Given the description of an element on the screen output the (x, y) to click on. 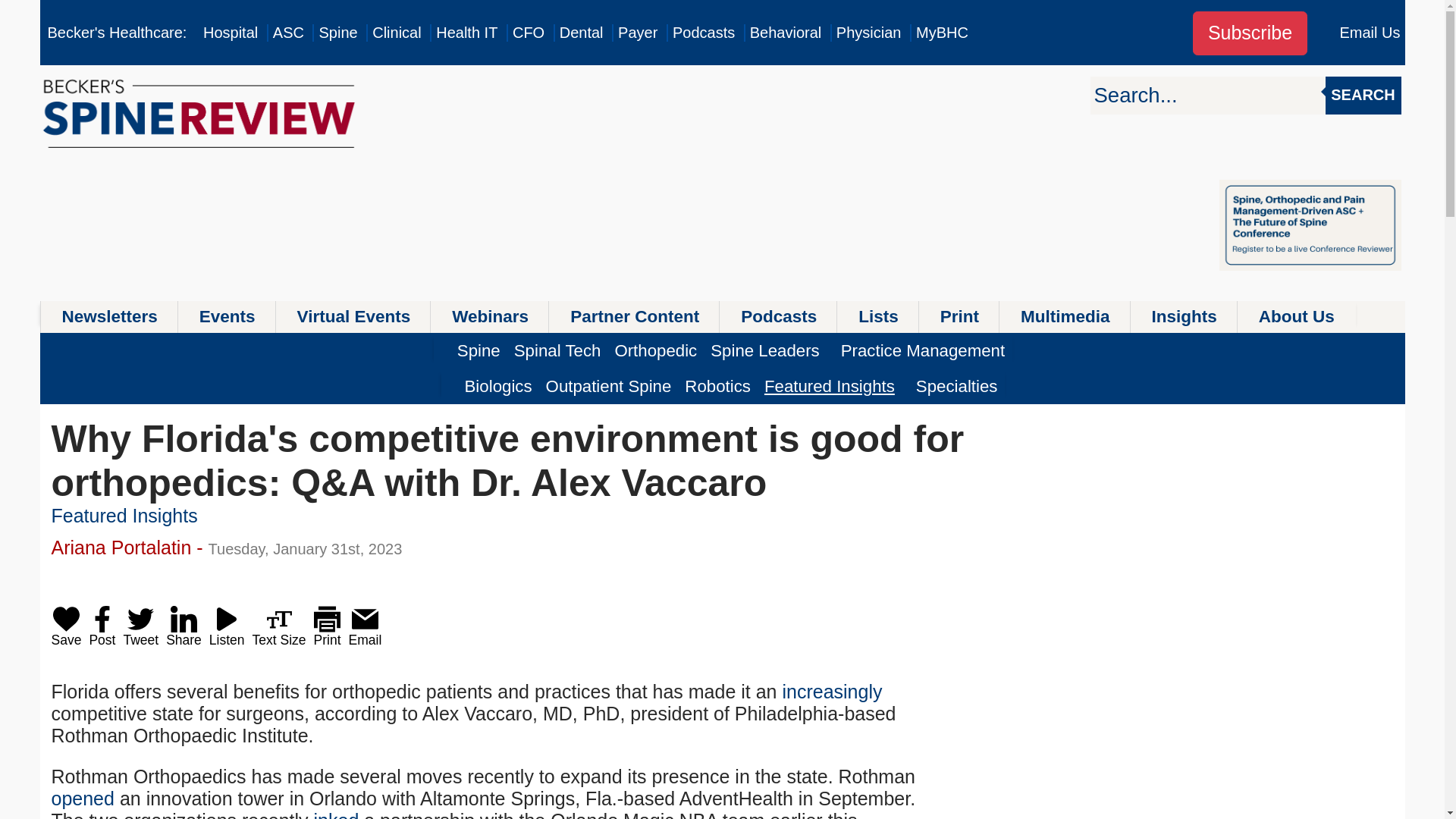
Hospital (230, 32)
Spine (337, 32)
Clinical (396, 32)
Becker's Clinical (396, 32)
Becker's Podcasts (703, 32)
Behavioral (785, 32)
Becker's Health IT (466, 32)
Becker's Payer Issues (637, 32)
CFO (528, 32)
Becker's Hospital Review (230, 32)
Email Us (1369, 32)
Physician (868, 32)
Physician (868, 32)
SEARCH (1362, 95)
Becker's Spine Review (337, 32)
